Given the description of an element on the screen output the (x, y) to click on. 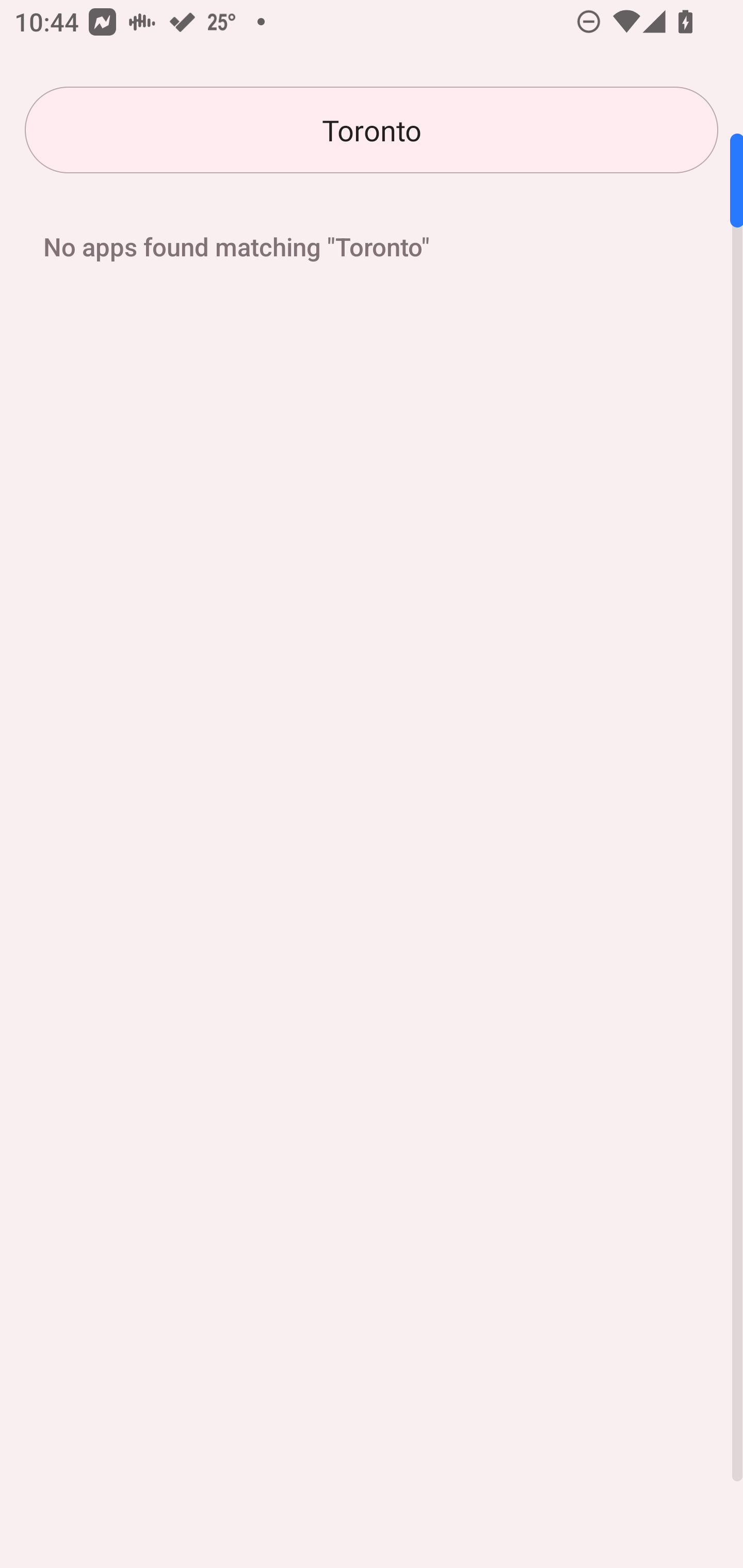
Toronto (371, 130)
